Given the description of an element on the screen output the (x, y) to click on. 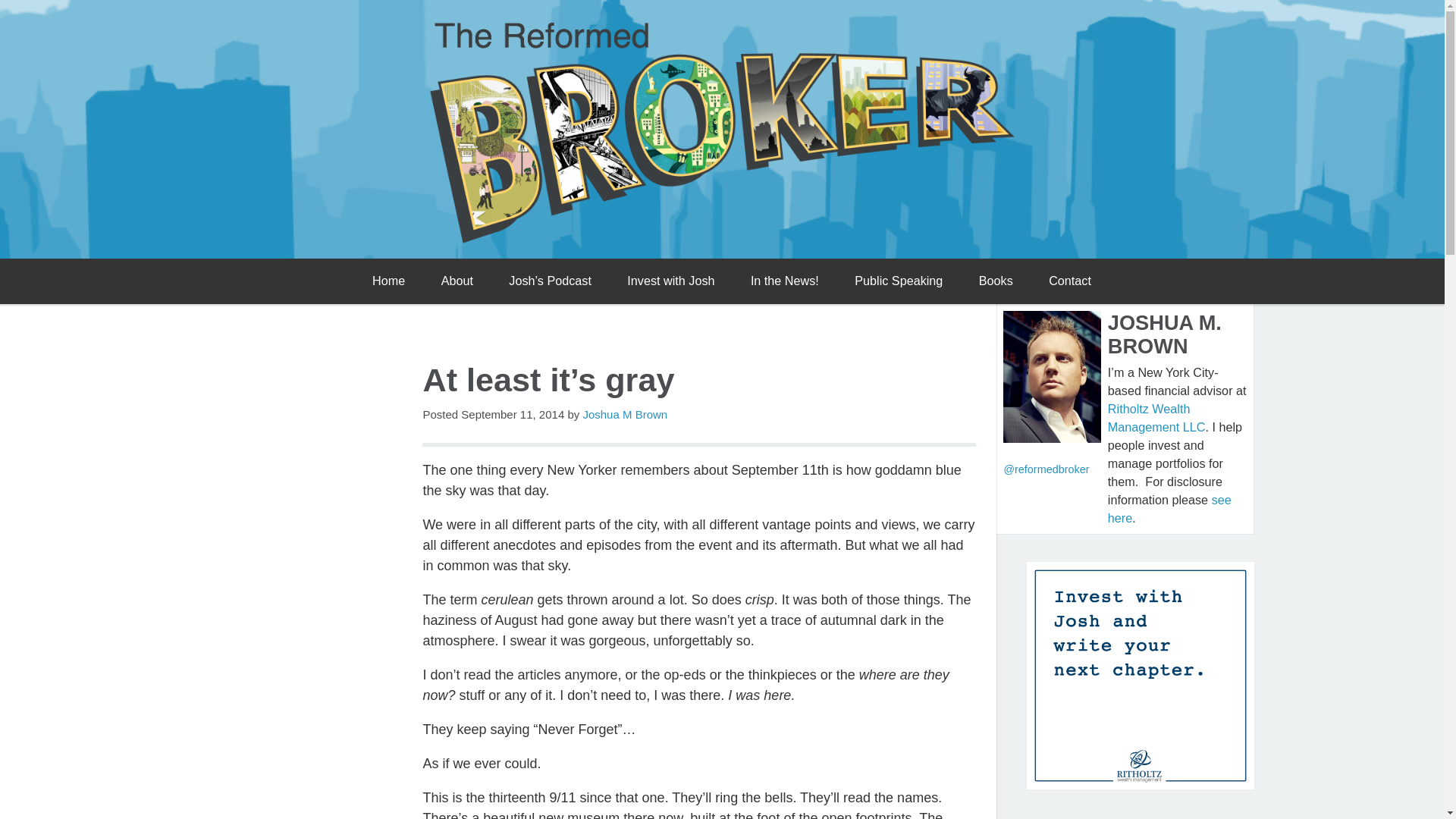
Joshua M Brown (624, 413)
In the News! (784, 280)
Posts by Joshua M Brown (624, 413)
Ritholtz Wealth Management LLC (1156, 418)
About (456, 280)
see here (1169, 508)
Invest with Josh (670, 280)
Public Speaking (899, 280)
Home (388, 280)
Contact (1069, 280)
